Given the description of an element on the screen output the (x, y) to click on. 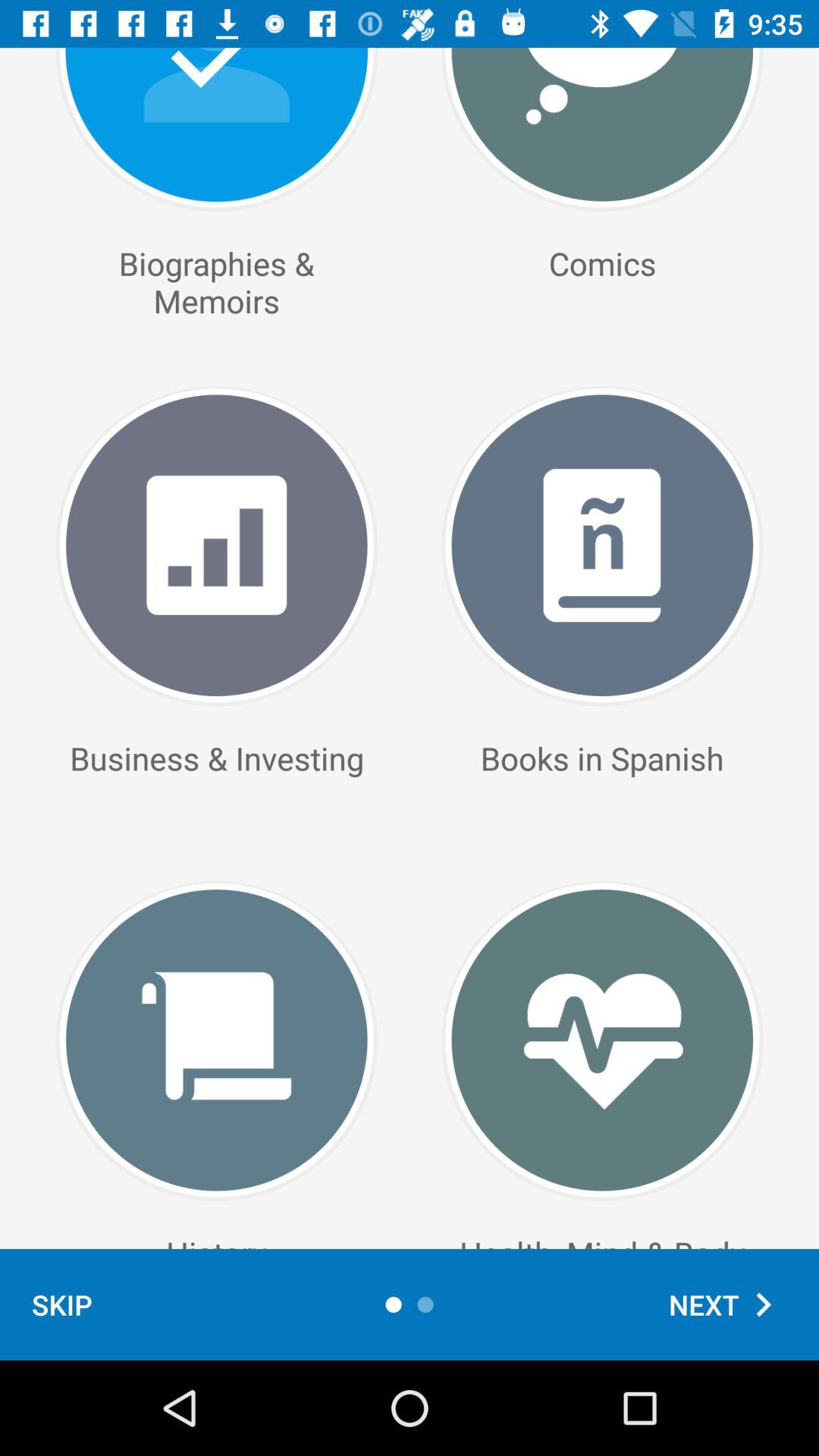
swipe until the next item (728, 1304)
